Given the description of an element on the screen output the (x, y) to click on. 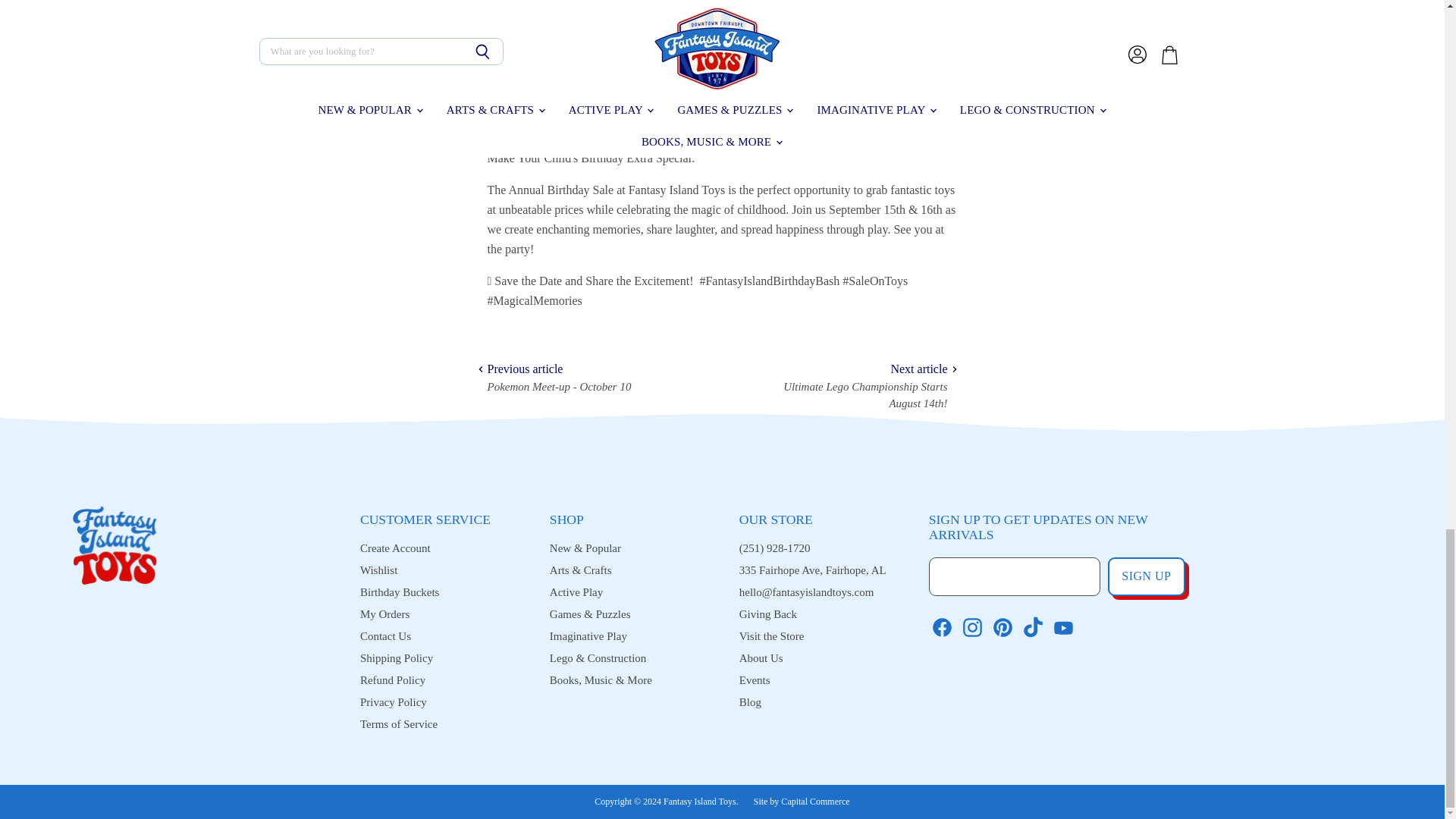
TikTok (1029, 624)
YouTube (1060, 624)
Instagram (970, 624)
Pinterest (1000, 624)
Facebook (939, 624)
